Given the description of an element on the screen output the (x, y) to click on. 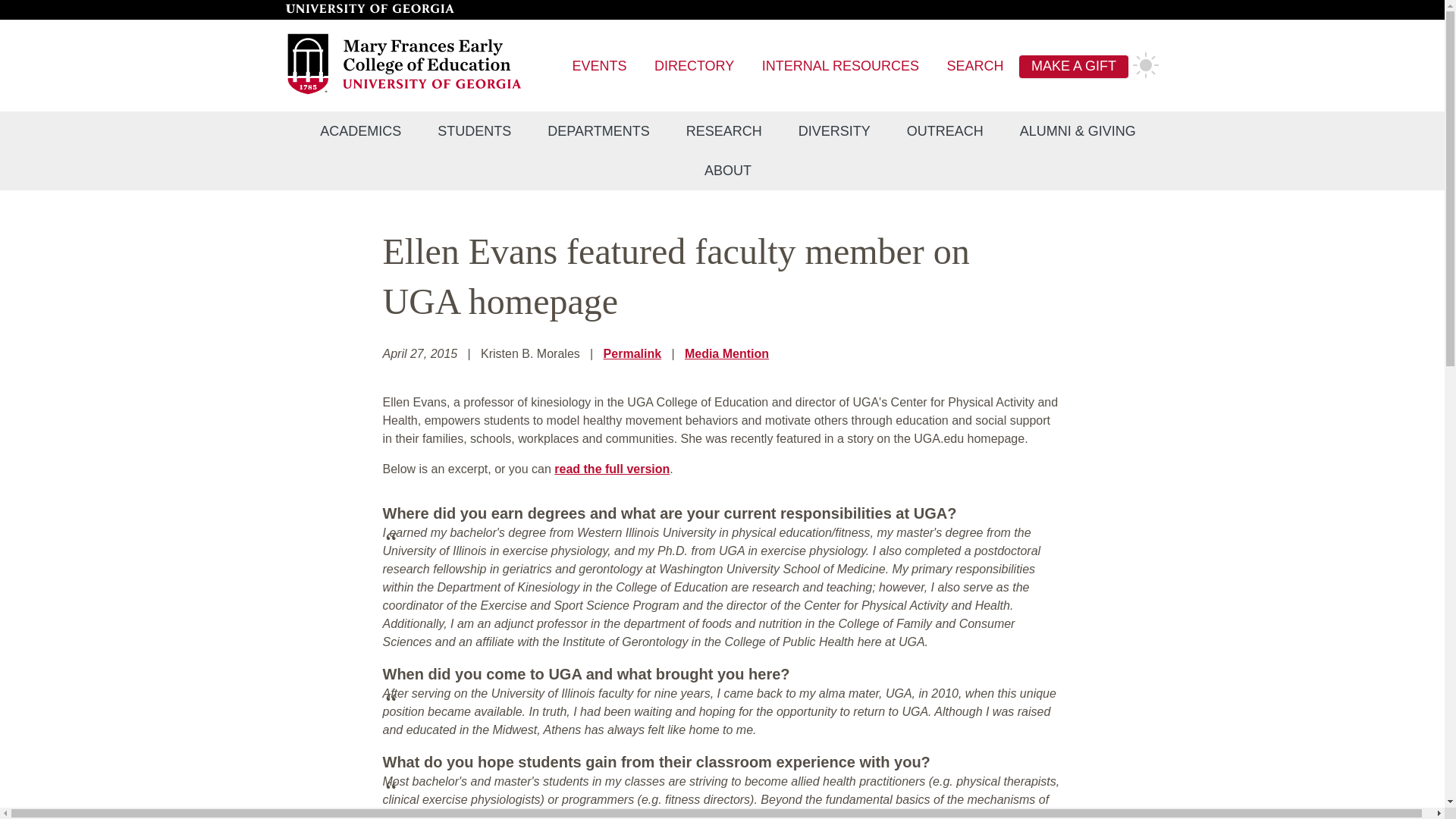
EVENTS (599, 66)
RESEARCH (724, 131)
STUDENTS (474, 131)
Main UGA Website (368, 9)
DEPARTMENTS (597, 131)
SEARCH (975, 66)
DIRECTORY (693, 66)
INTERNAL RESOURCES (840, 66)
MAKE A GIFT (1073, 66)
ACADEMICS (360, 131)
Mary Frances Early College of Education (404, 91)
